Given the description of an element on the screen output the (x, y) to click on. 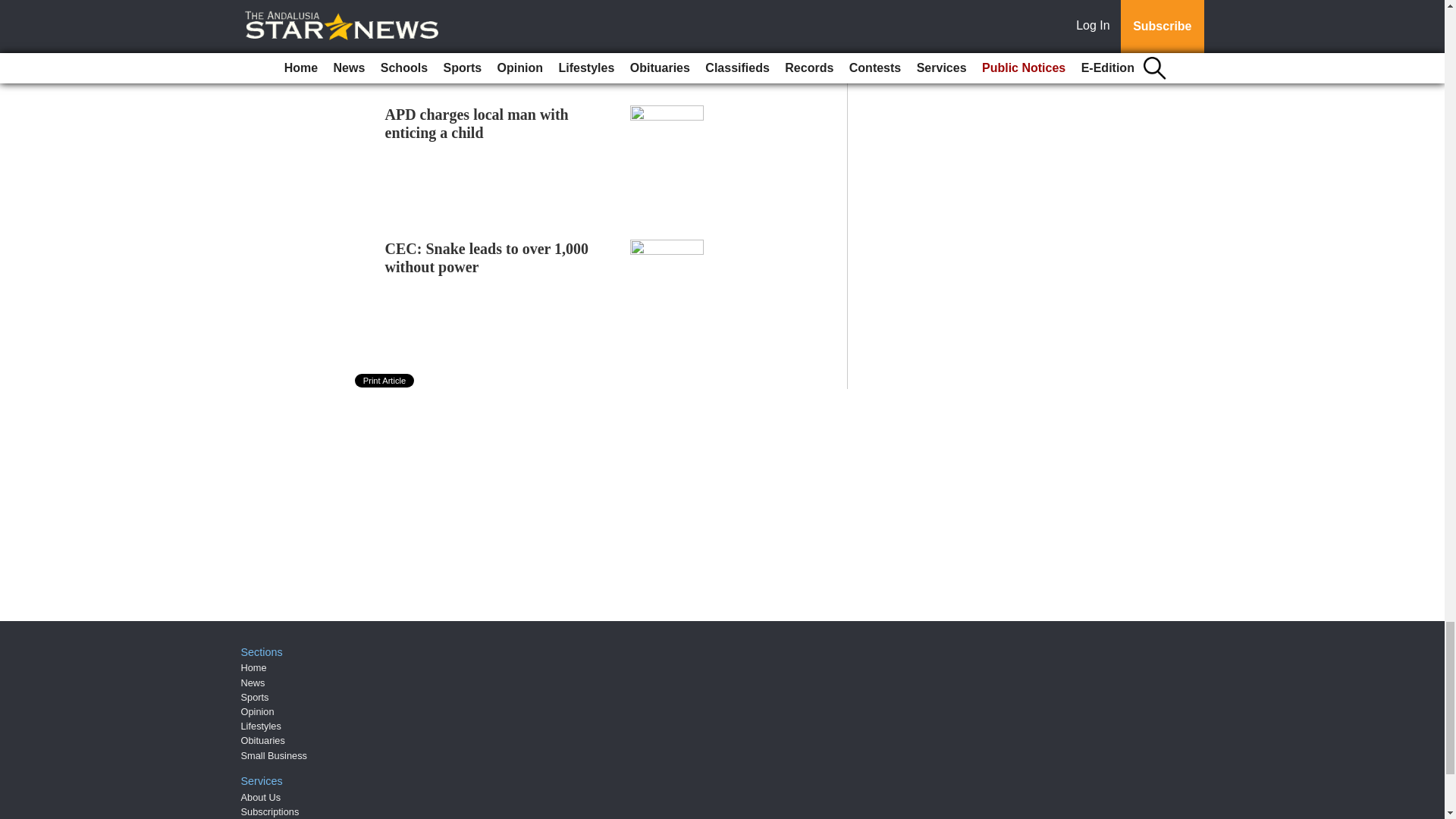
Wooten becomes seven-time domino tournament champion (483, 2)
Wooten becomes seven-time domino tournament champion (483, 2)
Opinion (258, 711)
Obituaries (263, 740)
Print Article (384, 380)
Sports (255, 696)
Home (253, 667)
CEC: Snake leads to over 1,000 without power (487, 257)
News (252, 682)
Small Business (274, 755)
APD charges local man with enticing a child (477, 123)
CEC: Snake leads to over 1,000 without power (487, 257)
APD charges local man with enticing a child (477, 123)
Lifestyles (261, 726)
